Given the description of an element on the screen output the (x, y) to click on. 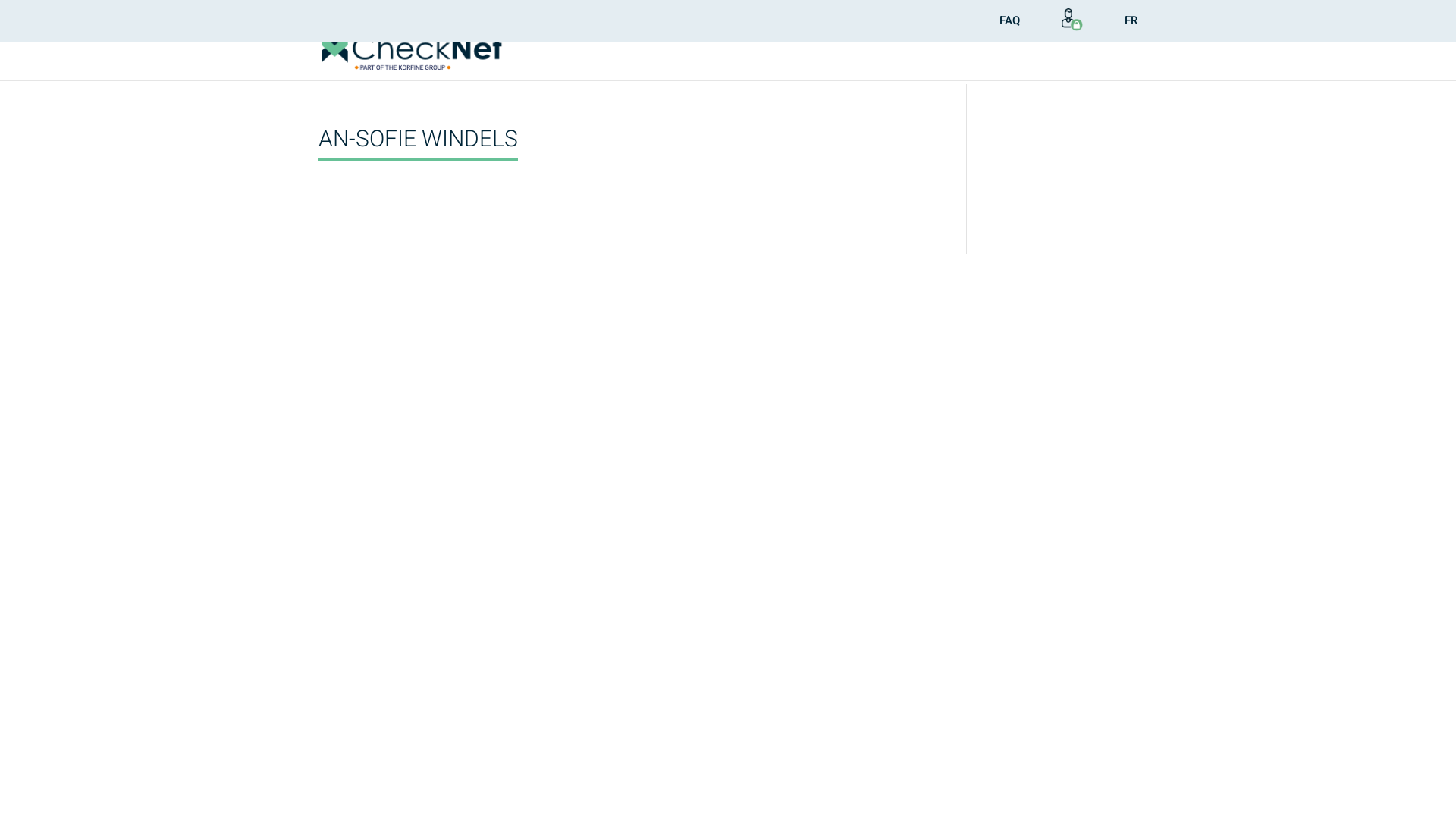
FR Element type: text (1130, 24)
FAQ Element type: text (1009, 24)
